Given the description of an element on the screen output the (x, y) to click on. 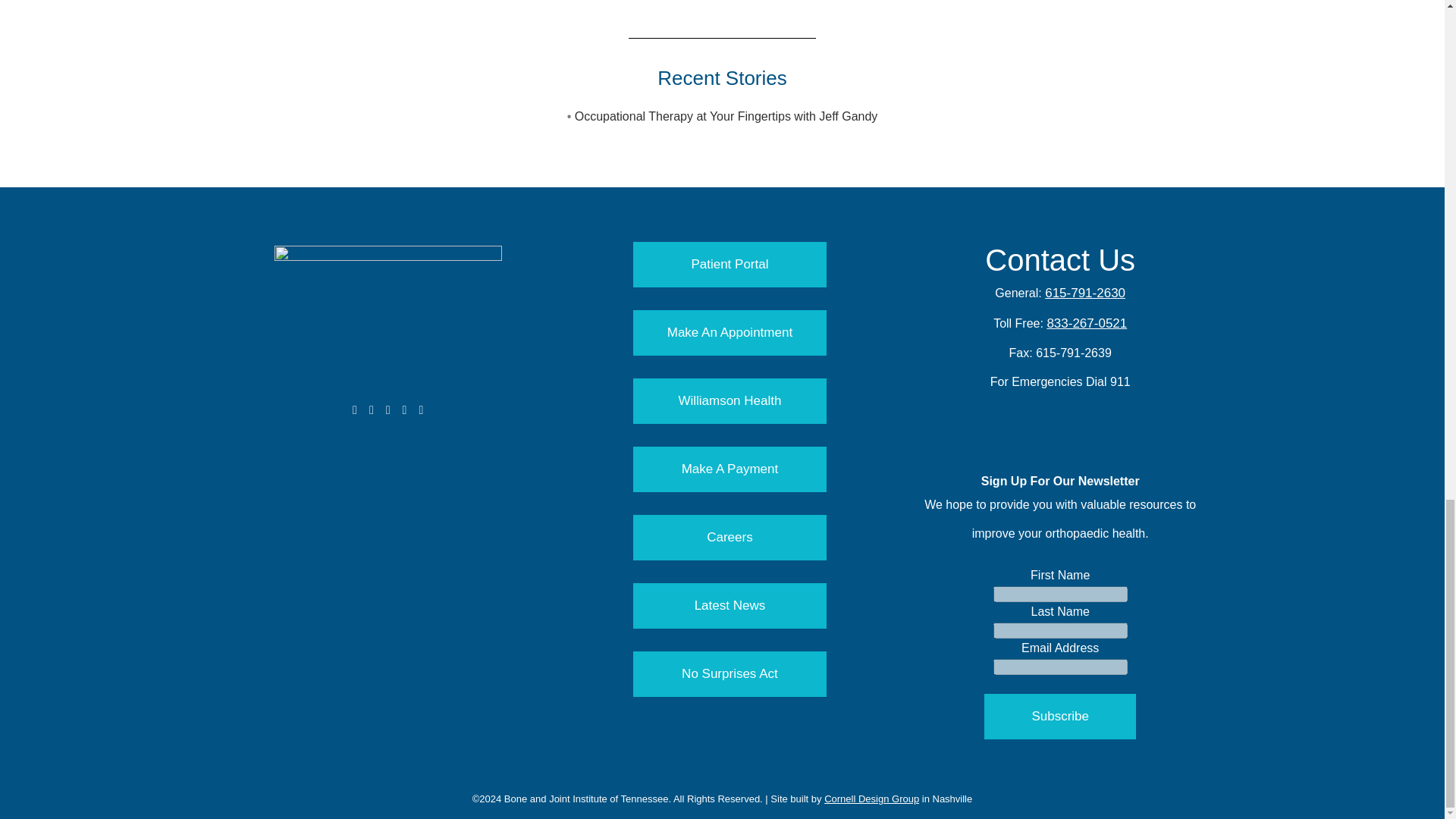
Subscribe (1059, 716)
